Given the description of an element on the screen output the (x, y) to click on. 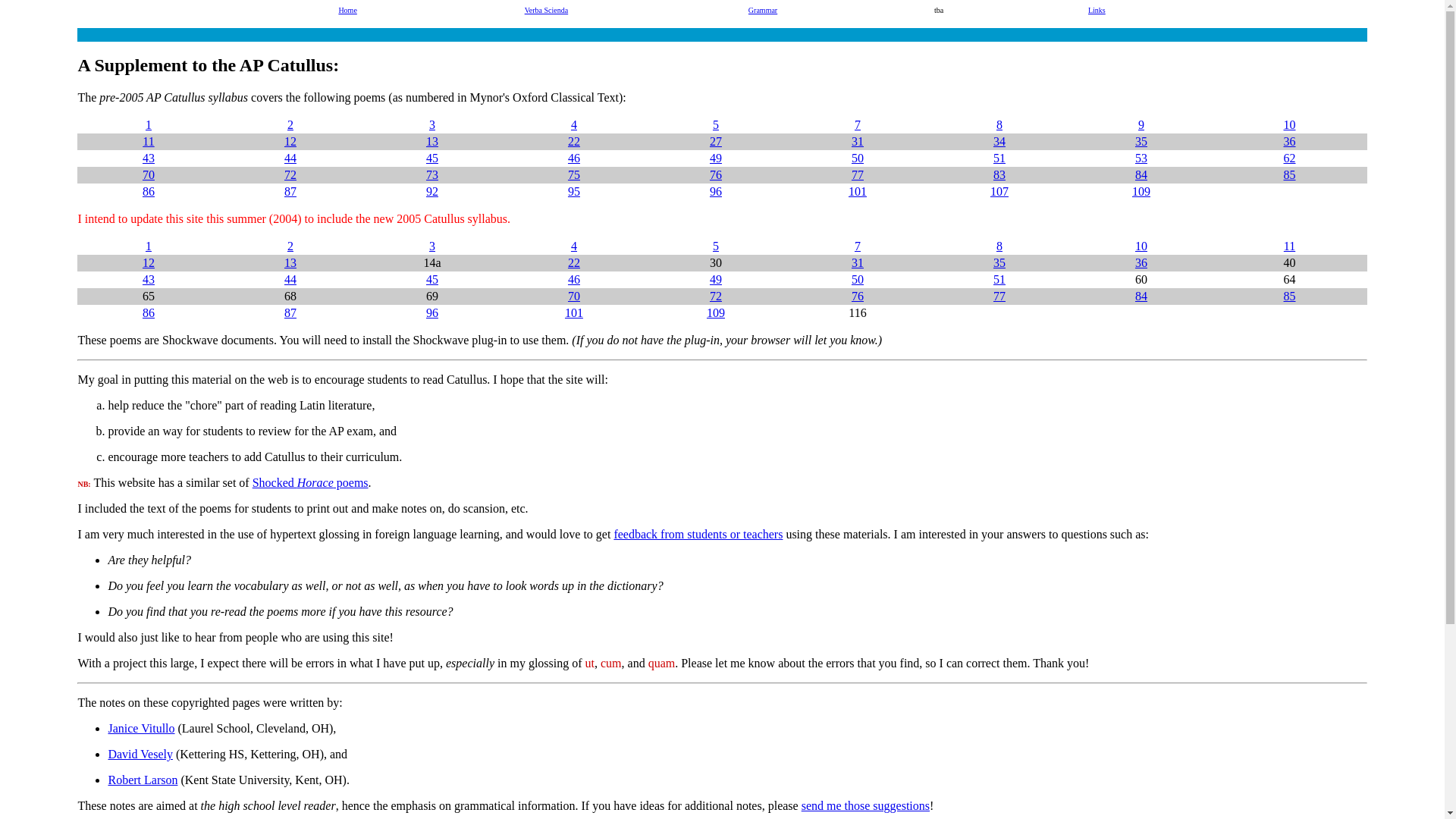
43 (148, 157)
83 (999, 174)
Grammar (762, 9)
12 (290, 141)
Verba Scienda (545, 9)
34 (999, 141)
36 (1288, 141)
77 (857, 174)
62 (1288, 157)
84 (1141, 174)
45 (432, 157)
51 (999, 157)
50 (857, 157)
13 (432, 141)
22 (573, 141)
